Given the description of an element on the screen output the (x, y) to click on. 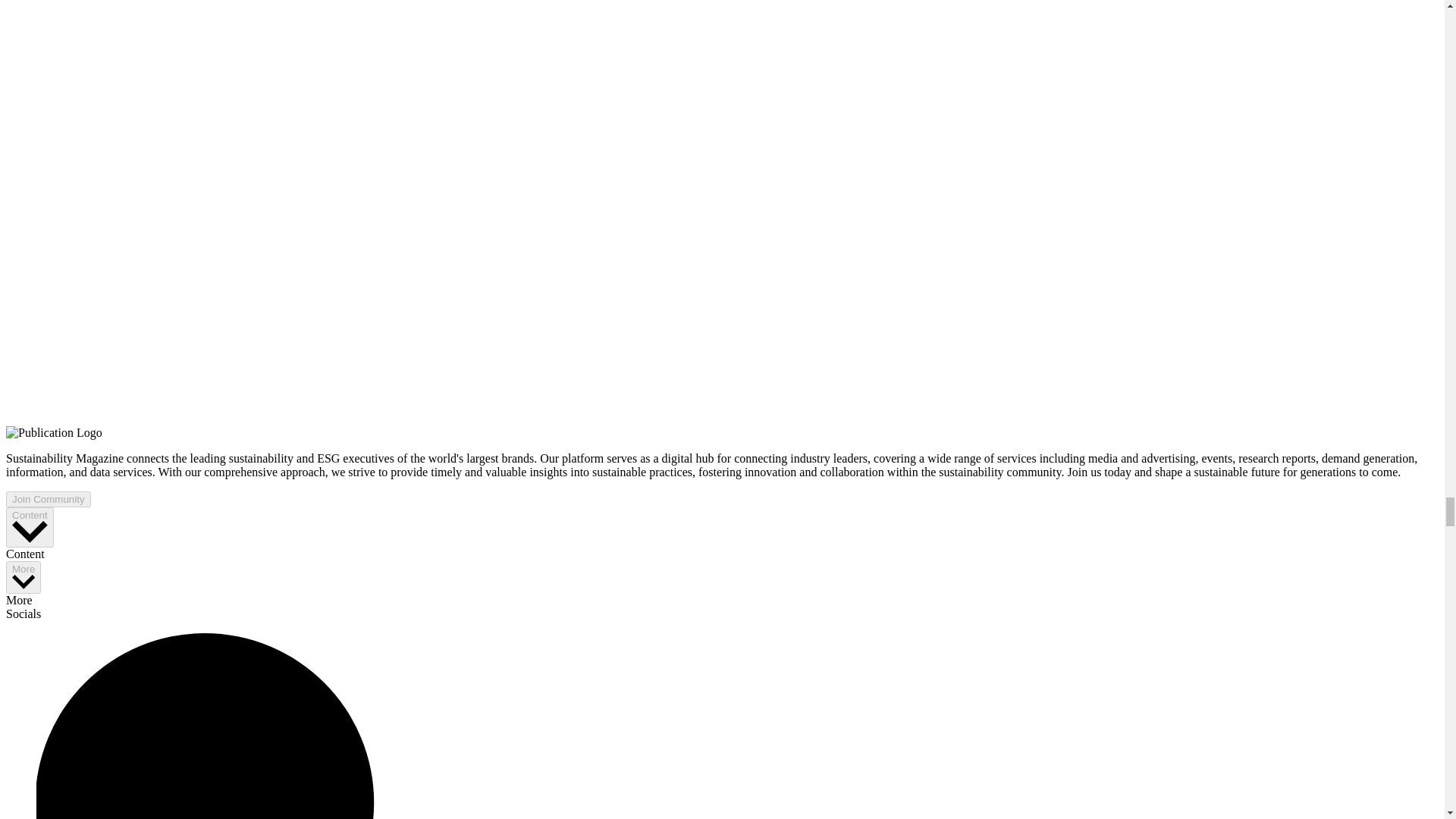
Content (29, 526)
Join Community (47, 498)
More (22, 577)
